Given the description of an element on the screen output the (x, y) to click on. 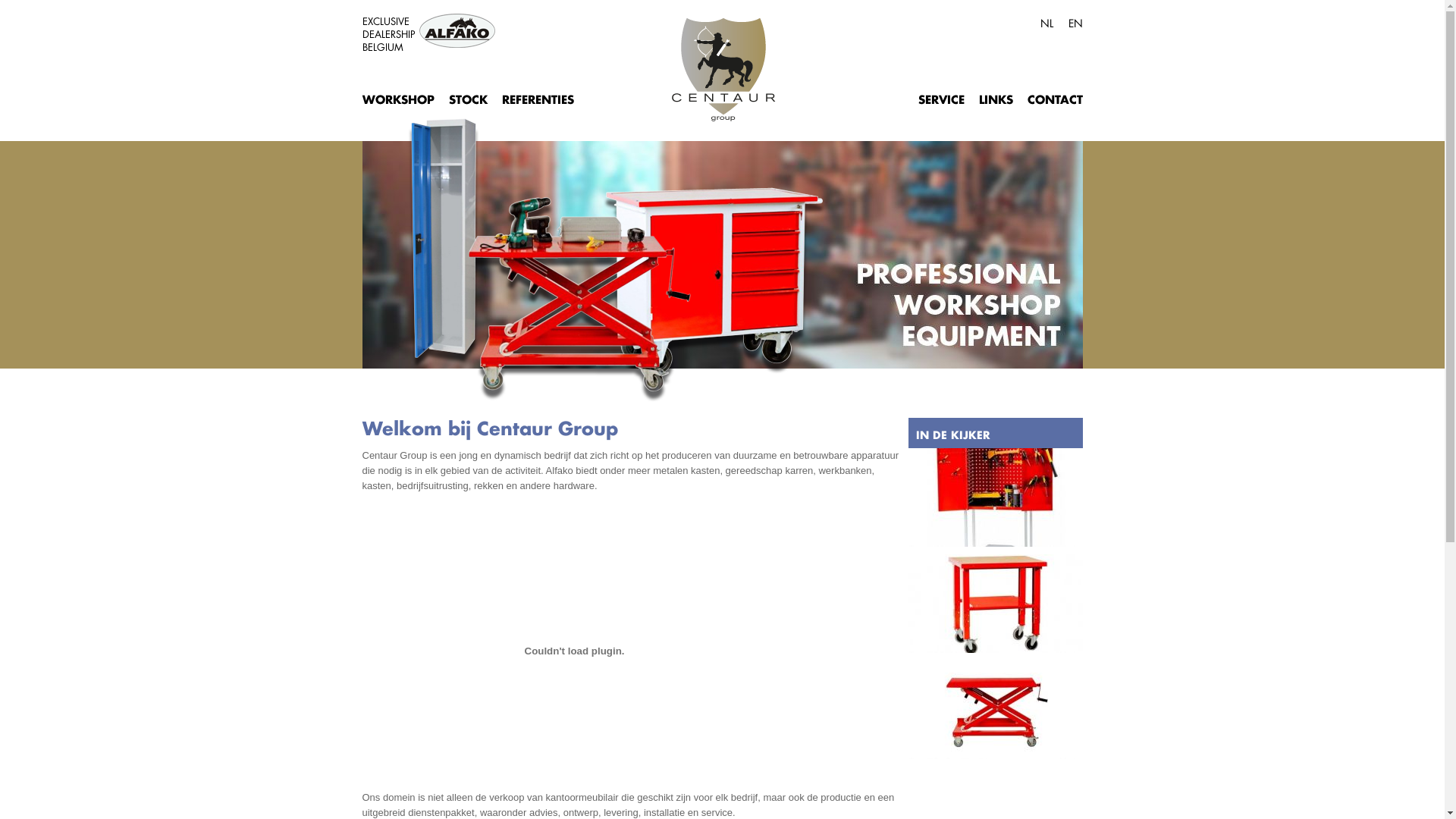
Centaur group Element type: hover (723, 69)
EN Element type: text (1074, 20)
NL Element type: text (1046, 20)
WORKSHOP Element type: text (398, 97)
REFERENTIES Element type: text (538, 97)
STOCK Element type: text (467, 97)
Alfako Element type: hover (456, 30)
CONTACT Element type: text (1054, 97)
LINKS Element type: text (995, 97)
SERVICE Element type: text (940, 97)
